Given the description of an element on the screen output the (x, y) to click on. 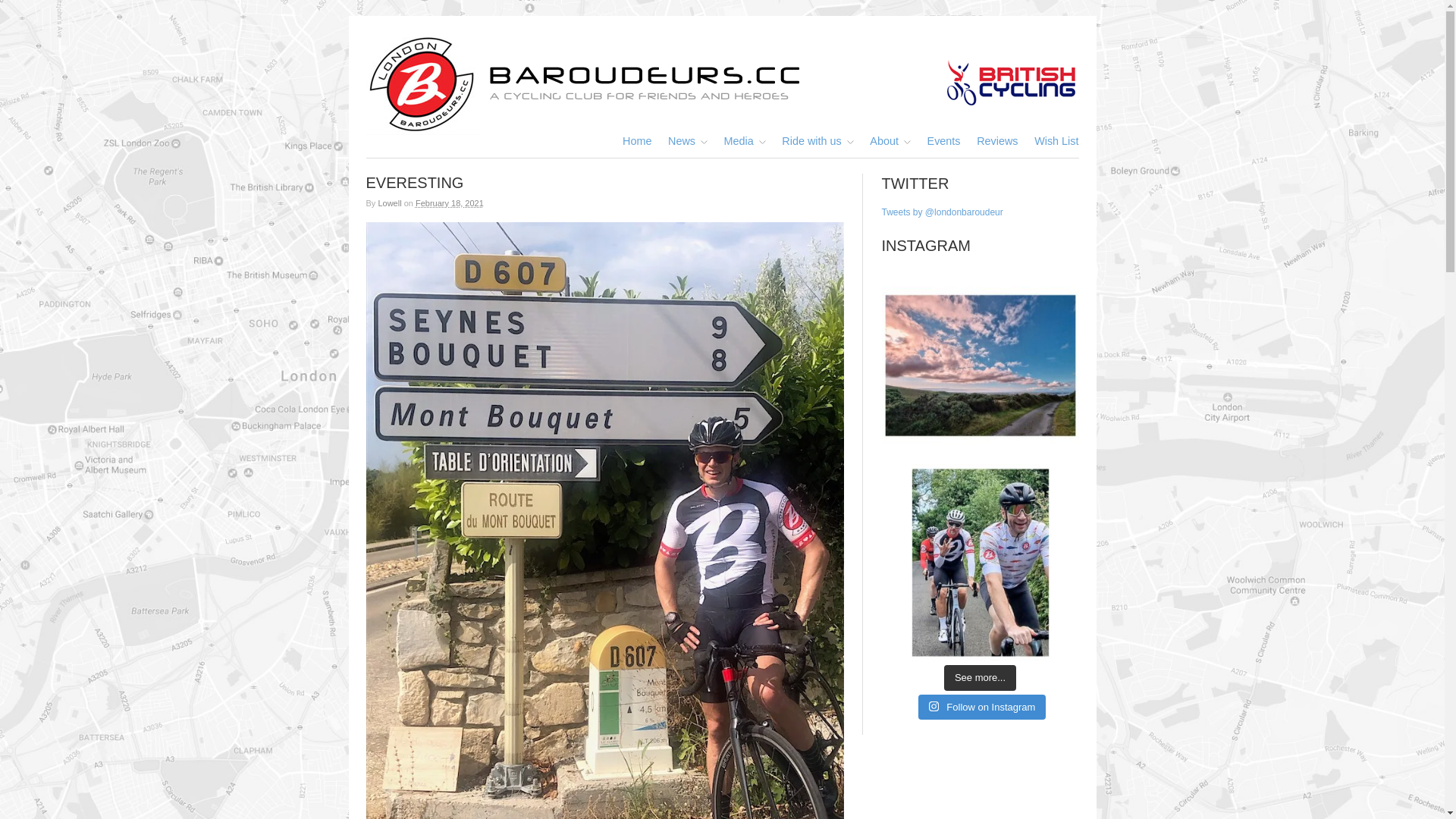
Follow on Instagram (982, 707)
London Baroudeurs (721, 81)
Home (636, 141)
Reviews (996, 141)
Events (943, 141)
Thursday, February 18th, 2021, 8:22 pm (448, 203)
Lowell (389, 203)
Lowell (389, 203)
See more... (979, 678)
Wish List (1055, 141)
